Given the description of an element on the screen output the (x, y) to click on. 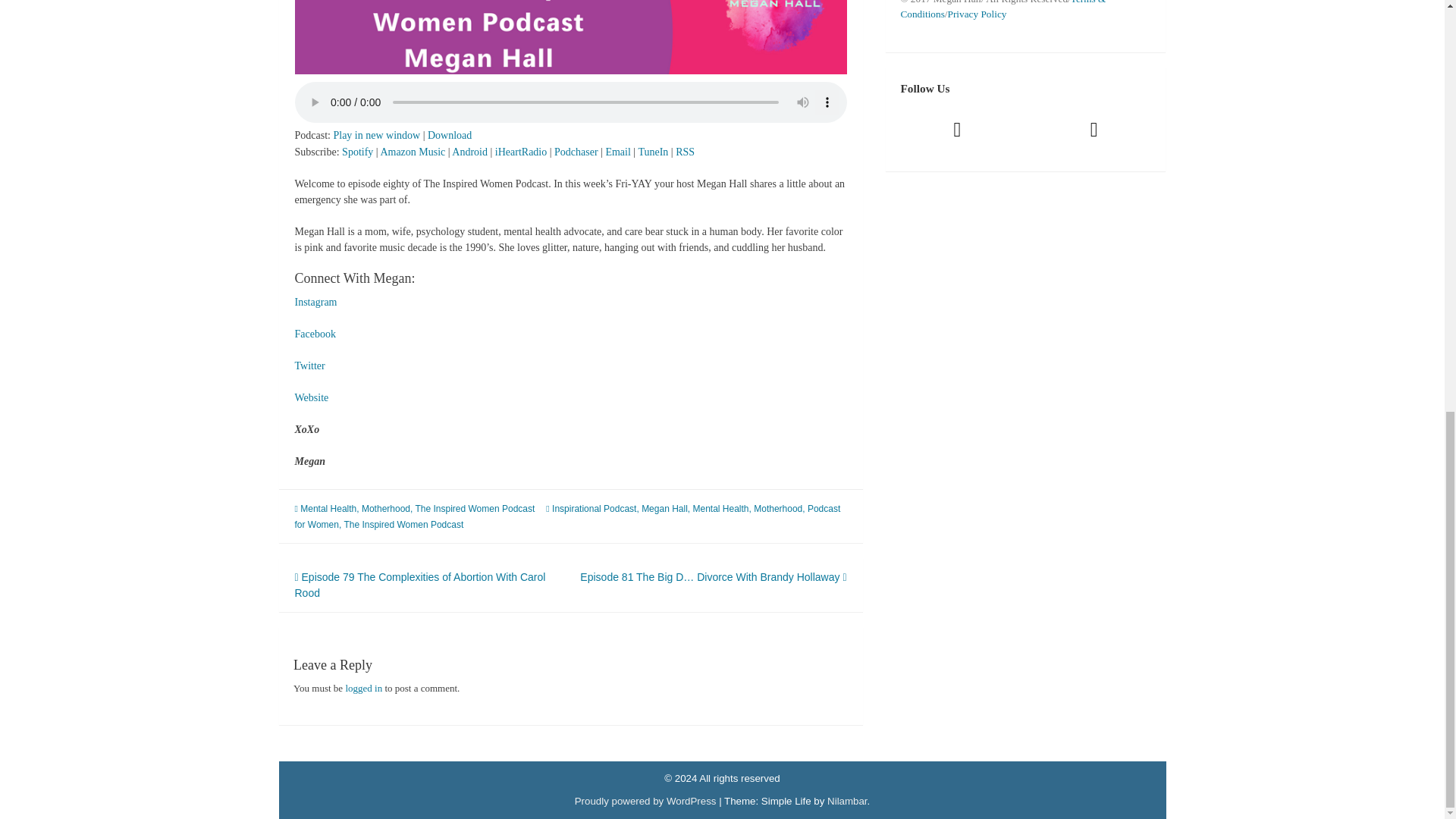
Play in new window (376, 134)
Podchaser (576, 152)
Megan Hall (664, 508)
The Inspired Women Podcast (403, 524)
Instagram (315, 301)
Subscribe on TuneIn (652, 152)
The Inspired Women Podcast (474, 508)
Website (311, 397)
Subscribe via RSS (684, 152)
iHeartRadio (521, 152)
Android (469, 152)
Subscribe by Email (617, 152)
Email (617, 152)
Subscribe on Amazon Music (412, 152)
Facebook (314, 333)
